Given the description of an element on the screen output the (x, y) to click on. 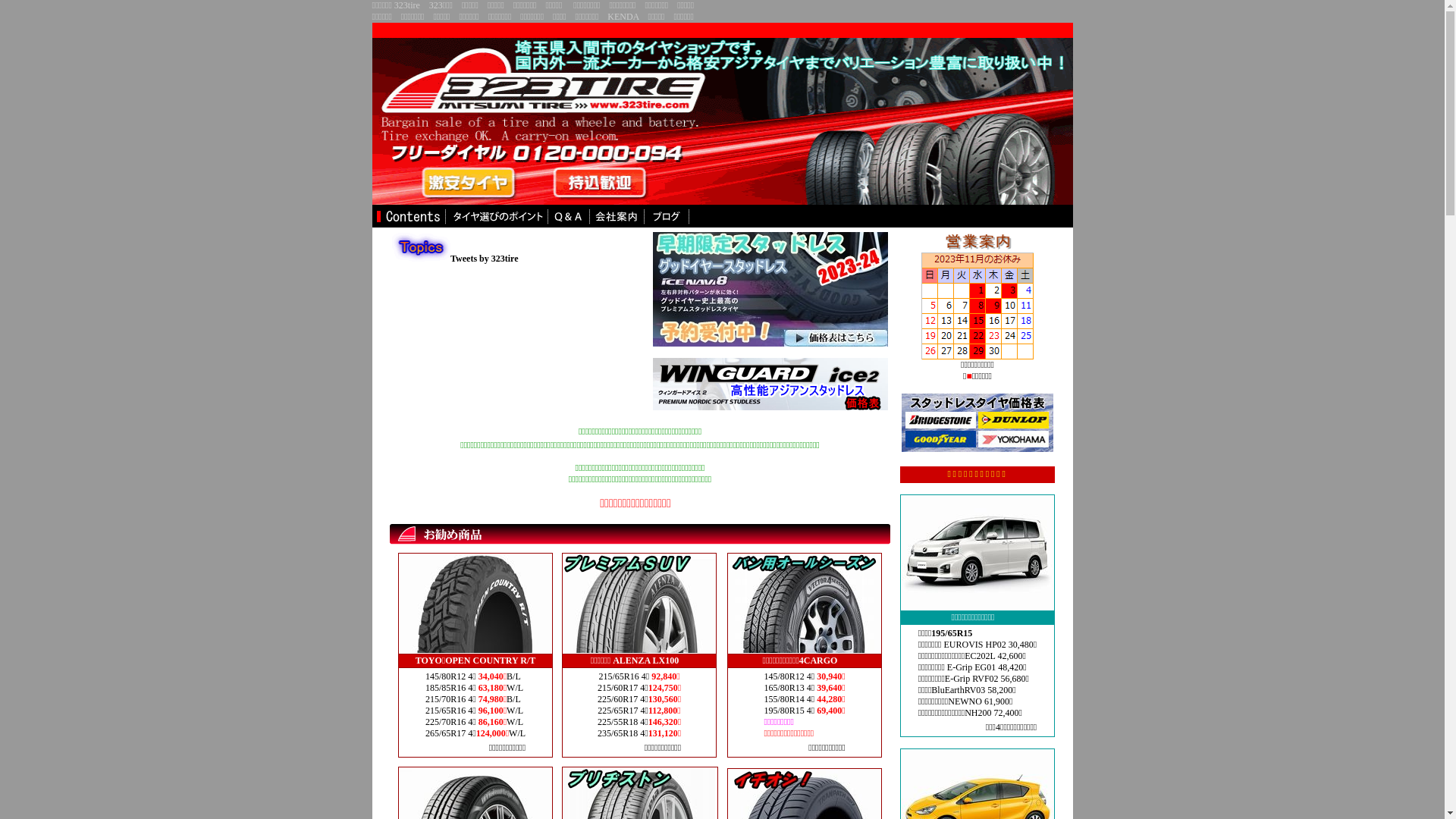
Tweets by 323tire Element type: text (484, 258)
